Given the description of an element on the screen output the (x, y) to click on. 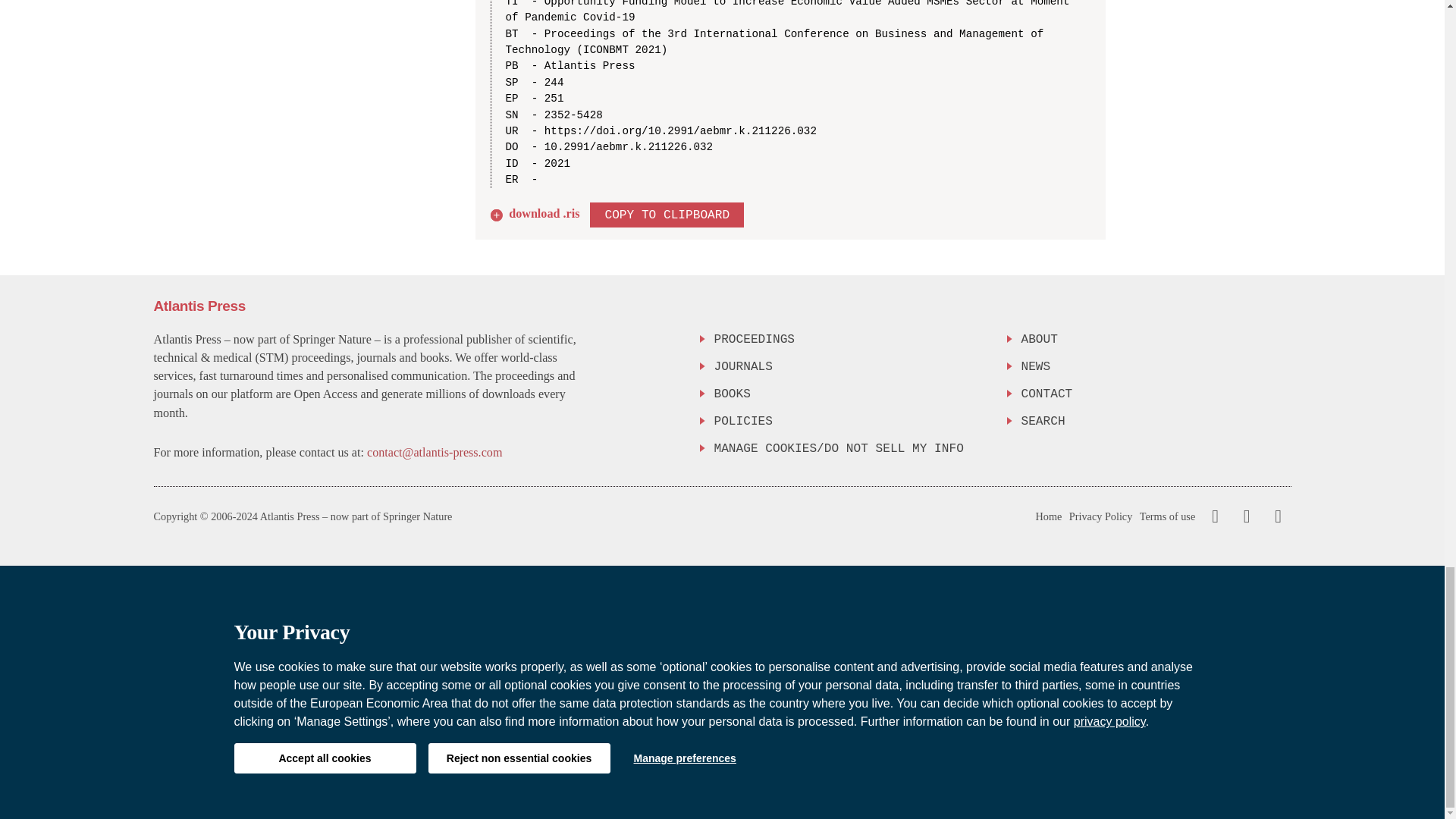
LinkedIn (1275, 516)
Facebook (1215, 516)
Twitter (1243, 516)
